Given the description of an element on the screen output the (x, y) to click on. 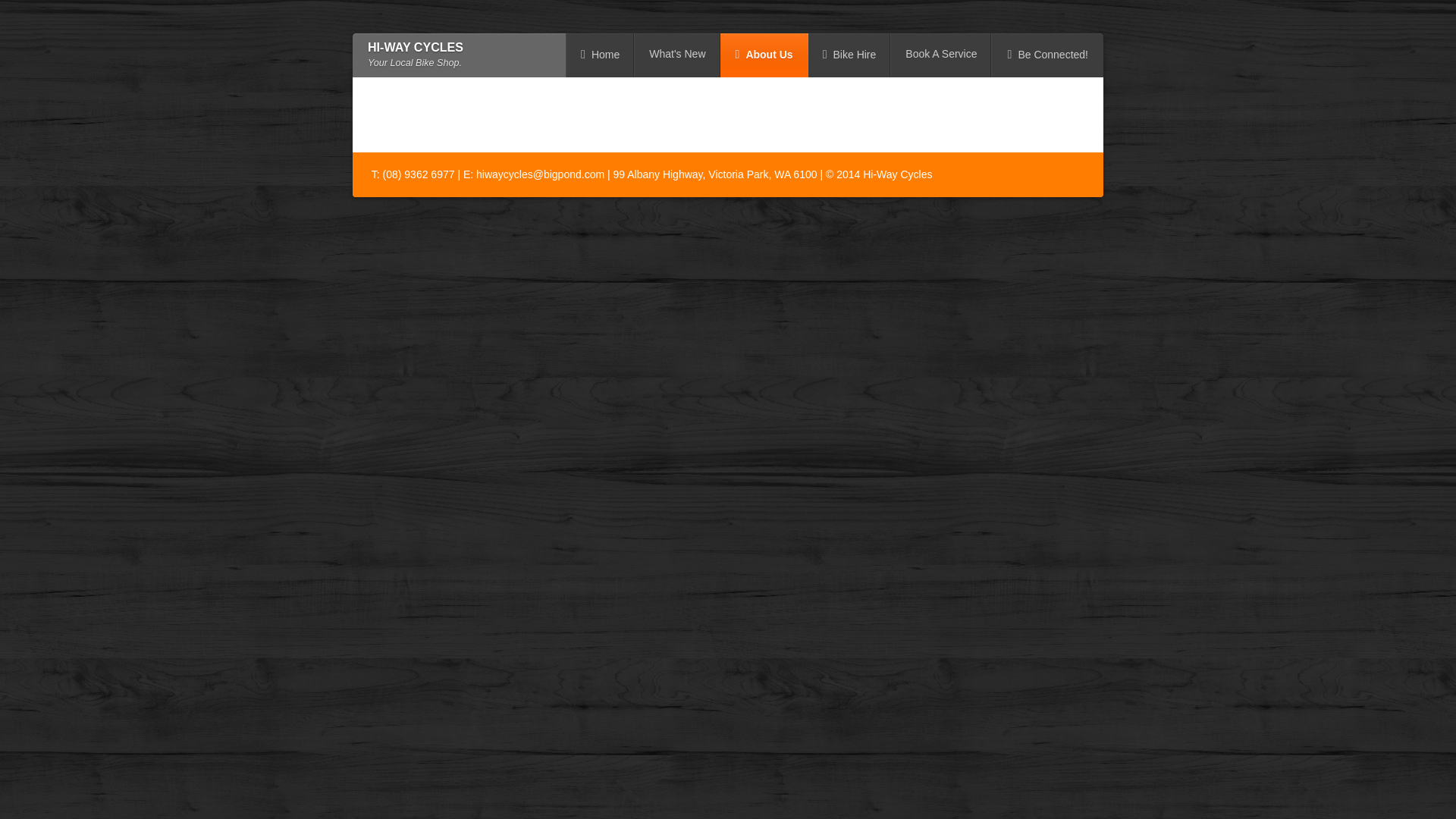
What's New Element type: text (676, 55)
Book A Service Element type: text (940, 55)
Be Connected! Element type: text (1047, 55)
HI-WAY CYCLES Element type: text (415, 46)
Bike Hire Element type: text (849, 55)
About Us Element type: text (764, 55)
Home Element type: text (599, 55)
